Given the description of an element on the screen output the (x, y) to click on. 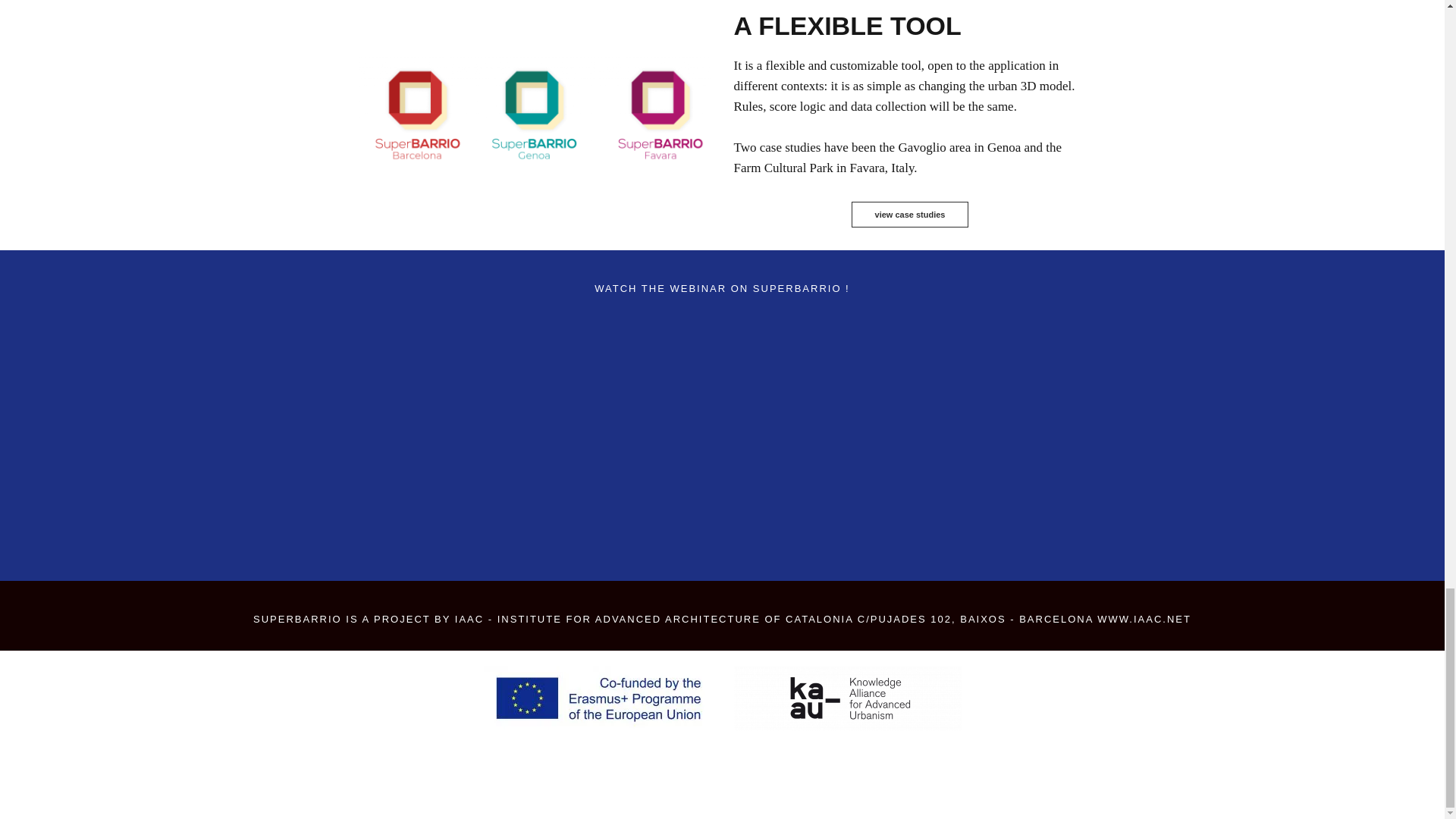
view case studies (910, 214)
